Given the description of an element on the screen output the (x, y) to click on. 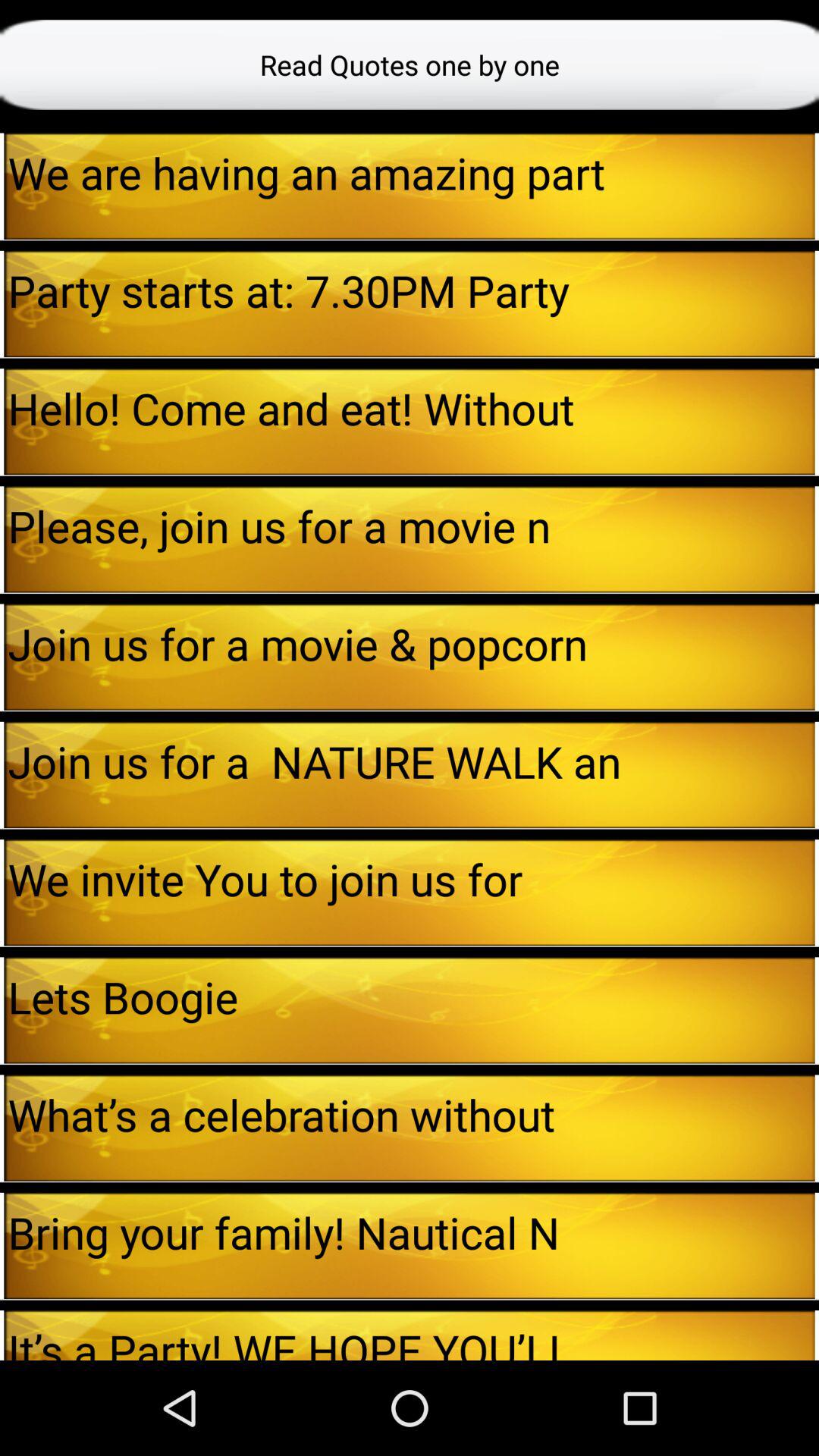
turn on icon to the left of join us for item (1, 657)
